Given the description of an element on the screen output the (x, y) to click on. 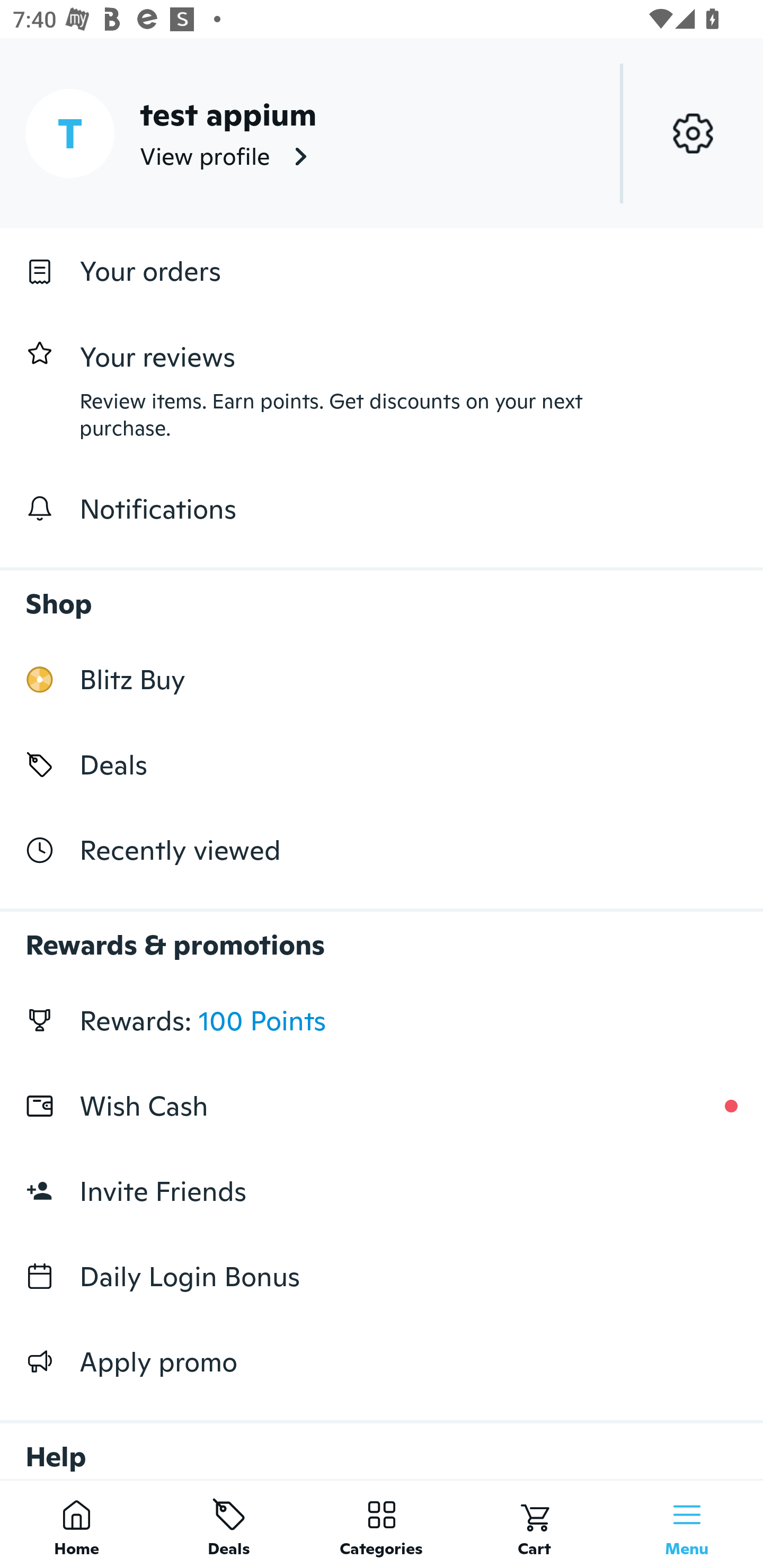
T test appium View profile (381, 132)
Your orders (381, 270)
Notifications (381, 508)
Shop (381, 593)
Blitz Buy (381, 679)
Deals (381, 764)
Recently viewed (381, 850)
Rewards & promotions (381, 935)
Rewards: 100 Points (381, 1020)
Wish Cash (381, 1106)
Invite Friends (381, 1190)
Daily Login Bonus (381, 1277)
Apply promo (381, 1361)
Help (381, 1441)
Home (76, 1523)
Deals (228, 1523)
Categories (381, 1523)
Cart (533, 1523)
Menu (686, 1523)
